Given the description of an element on the screen output the (x, y) to click on. 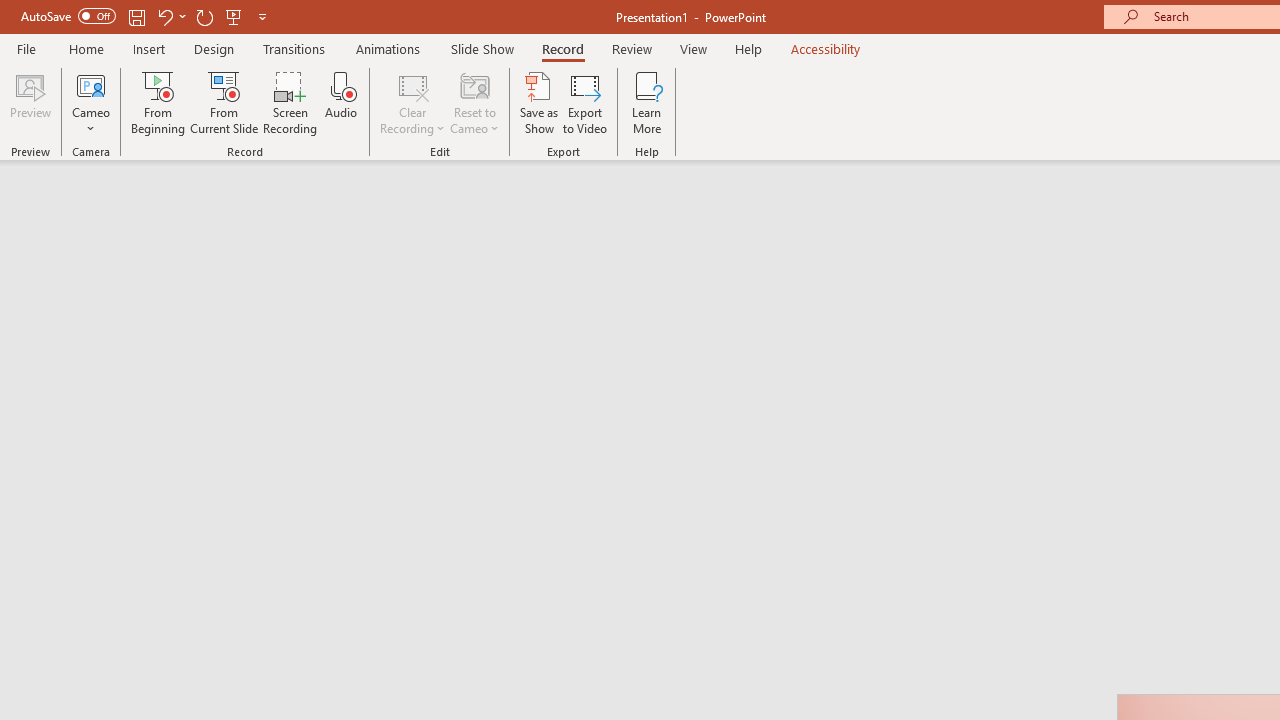
Reset to Cameo (474, 102)
Screen Recording (290, 102)
Clear Recording (412, 102)
Export to Video (585, 102)
Learn More (646, 102)
